Given the description of an element on the screen output the (x, y) to click on. 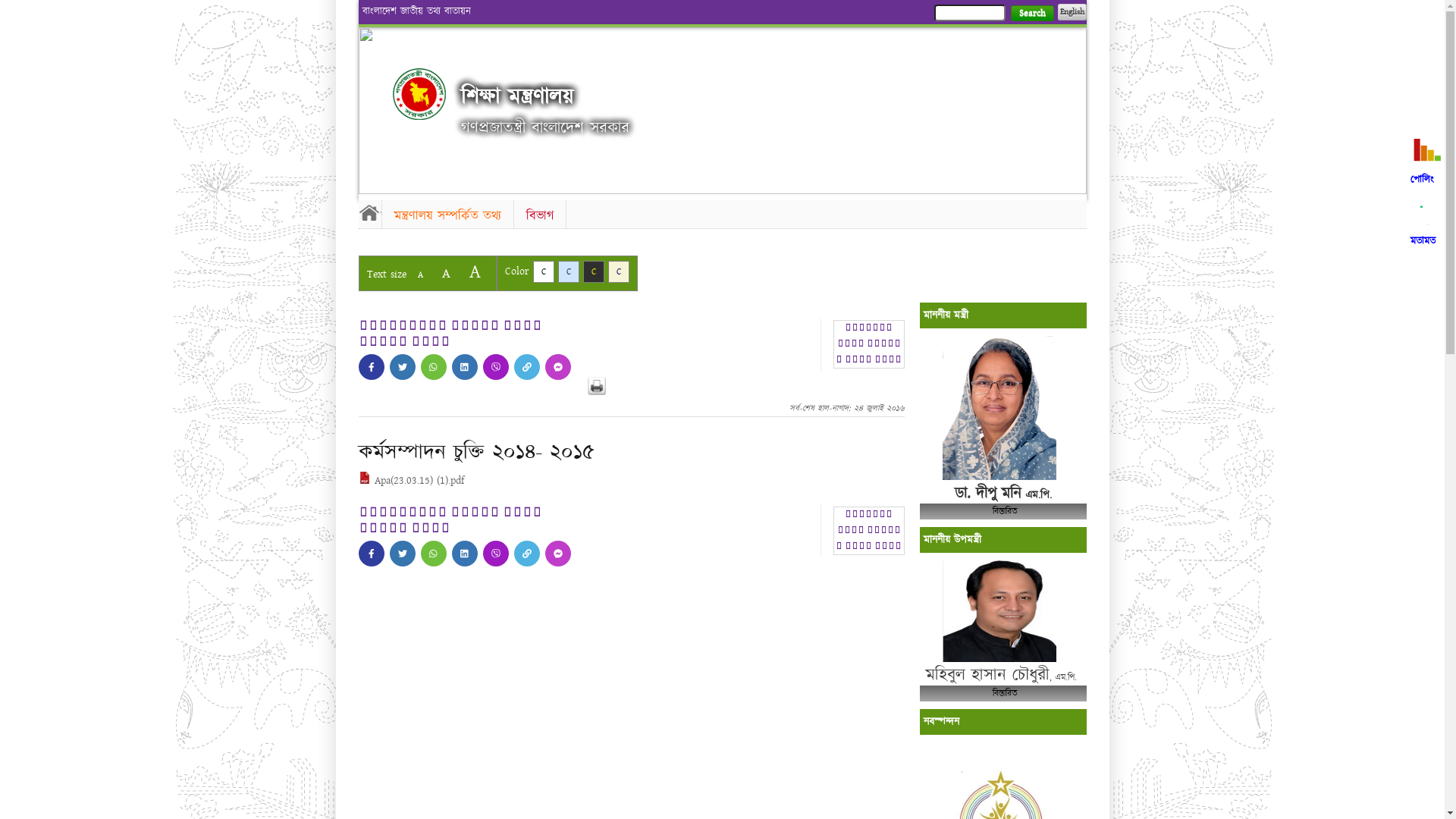
Search Element type: text (1031, 13)
C Element type: text (592, 271)
C Element type: text (618, 271)
Home Element type: hover (368, 211)
A Element type: text (419, 274)
A Element type: text (445, 273)
C Element type: text (568, 271)
English Element type: text (1071, 11)
Home Element type: hover (418, 93)
C Element type: text (542, 271)
A Element type: text (474, 271)
Apa(23.03.15) (1).pdf Element type: text (410, 480)
